Given the description of an element on the screen output the (x, y) to click on. 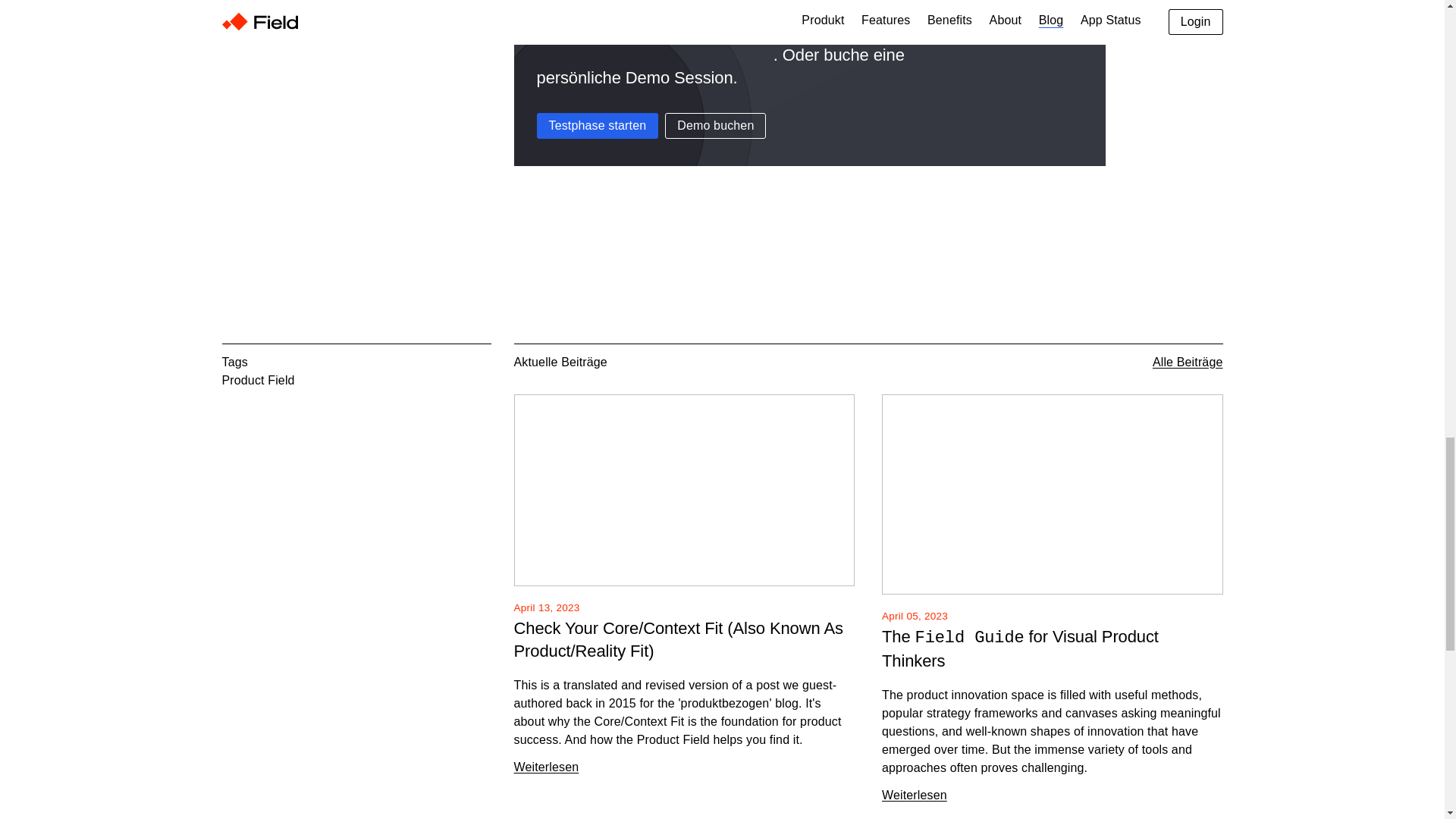
Testphase starten (598, 125)
Demo buchen (715, 125)
